Given the description of an element on the screen output the (x, y) to click on. 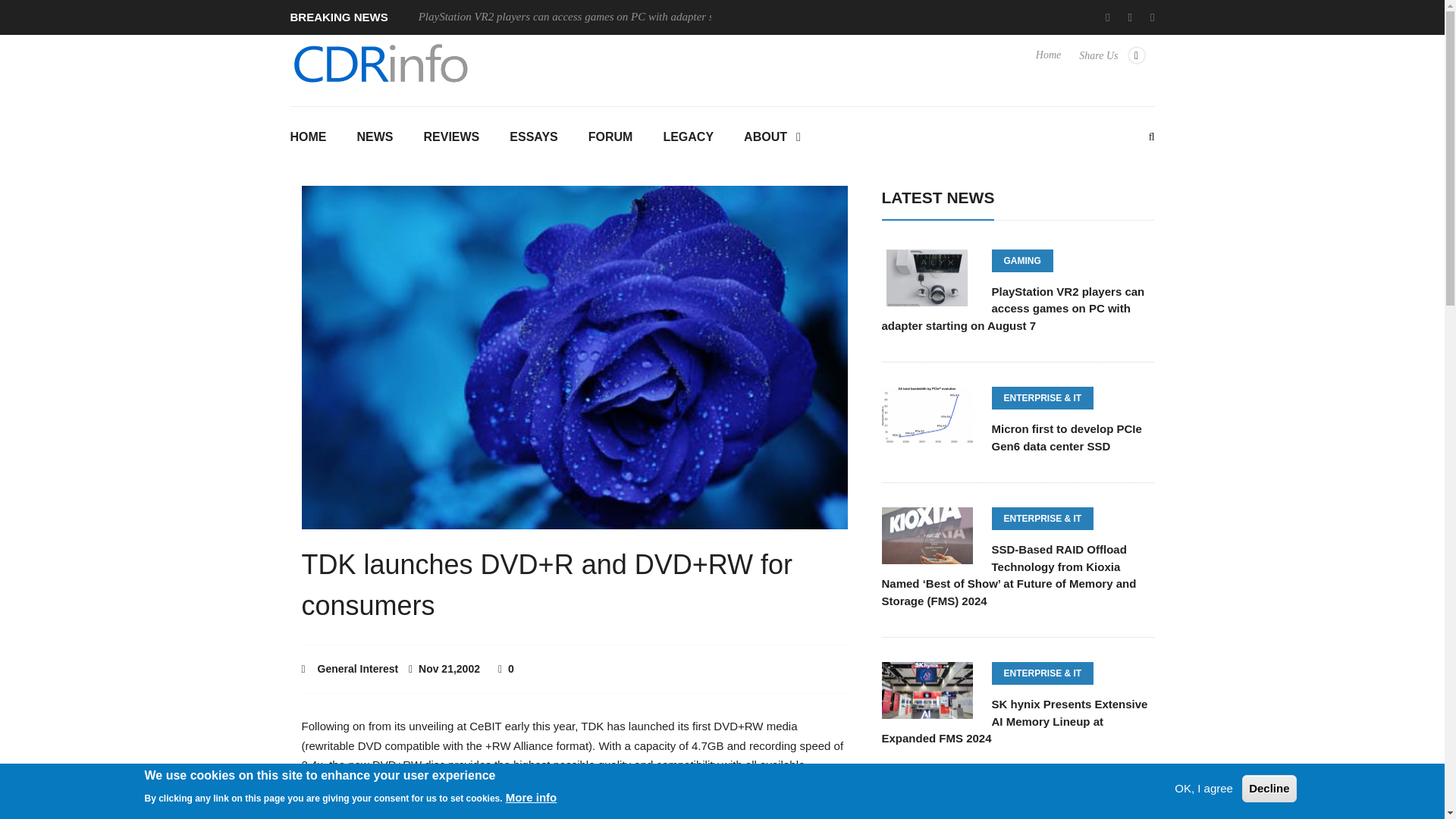
0 (505, 668)
FORUM (610, 138)
LEGACY (688, 138)
General Interest (357, 668)
Home (1048, 62)
REVIEWS (451, 138)
Search (722, 271)
NEWS (373, 138)
ESSAYS (533, 138)
Share Us (1112, 62)
